Given the description of an element on the screen output the (x, y) to click on. 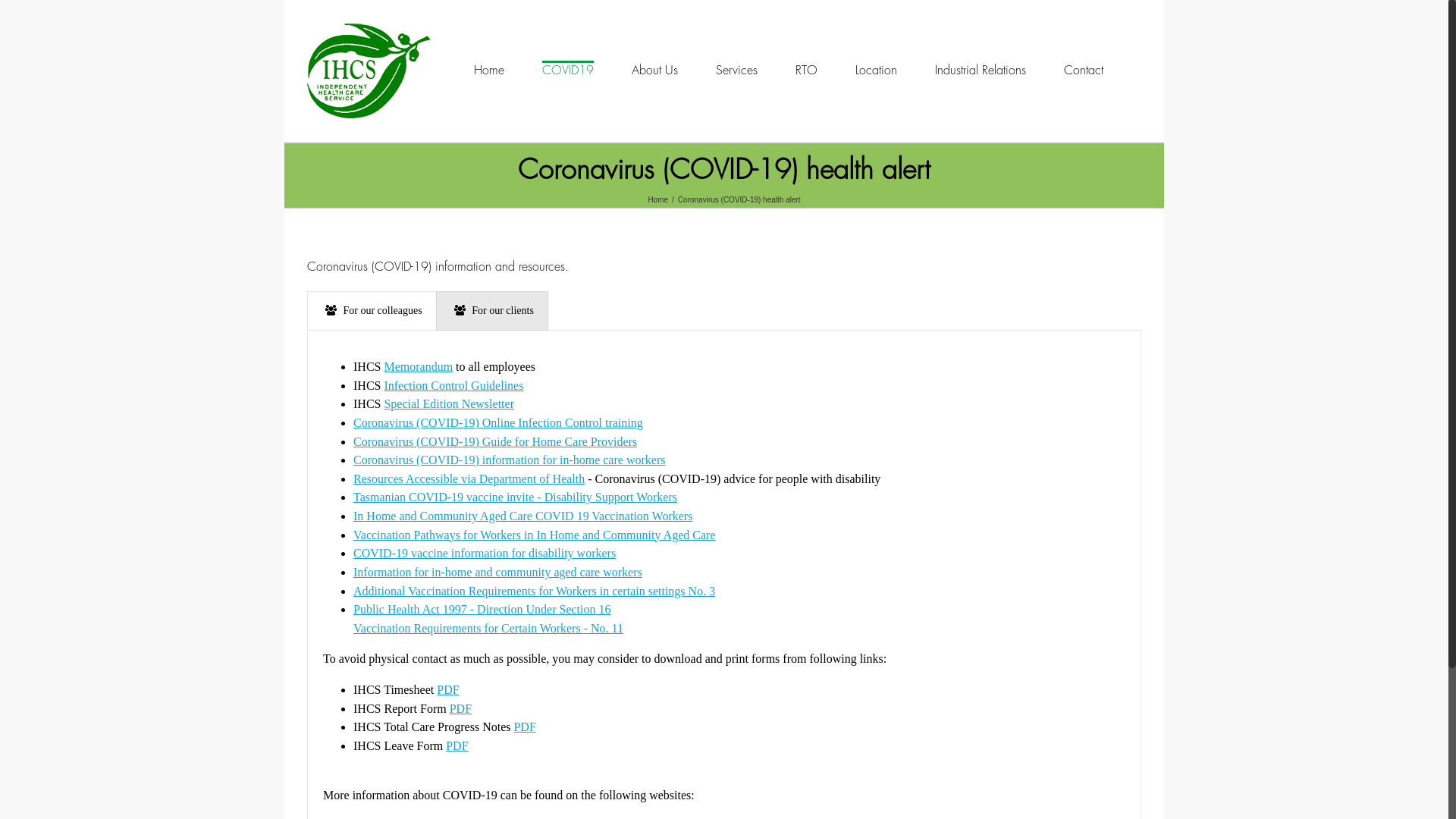
For our clients Element type: text (492, 310)
Information for in-home and community aged care workers Element type: text (497, 571)
Industrial Relations Element type: text (980, 69)
Contact Element type: text (1083, 69)
PDF Element type: text (524, 726)
Location Element type: text (876, 69)
In Home and Community Aged Care COVID 19 Vaccination Workers Element type: text (522, 515)
RTO Element type: text (806, 69)
Coronavirus (COVID-19) information for in-home care workers Element type: text (509, 459)
PDF Element type: text (460, 708)
COVID19 Element type: text (567, 69)
Home Element type: text (488, 69)
Home Element type: text (657, 199)
Special Edition Newsletter Element type: text (448, 403)
COVID-19 vaccine information for disability workers Element type: text (484, 552)
Memorandum Element type: text (417, 366)
PDF Element type: text (447, 689)
About Us Element type: text (654, 69)
Resources Accessible via Department of Health Element type: text (468, 478)
For our colleagues Element type: text (371, 310)
Infection Control Guidelines Element type: text (453, 385)
Coronavirus (COVID-19) Online Infection Control training Element type: text (498, 422)
Coronavirus (COVID-19) Guide for Home Care Providers Element type: text (495, 441)
Services Element type: text (736, 69)
PDF Element type: text (456, 745)
